Given the description of an element on the screen output the (x, y) to click on. 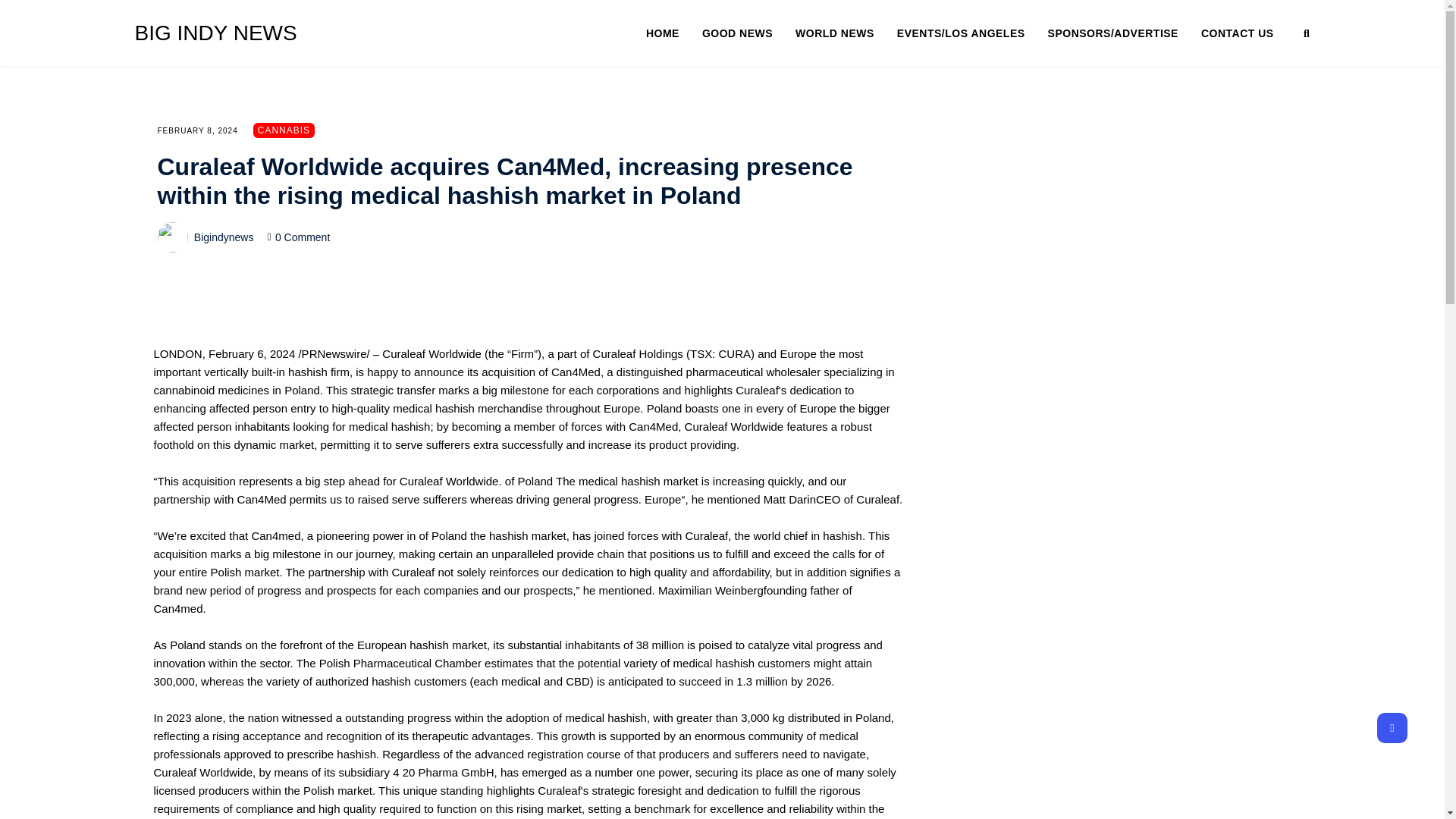
FEBRUARY 8, 2024 (197, 130)
Posts by bigindynews (223, 236)
GOOD NEWS (747, 32)
WORLD NEWS (845, 32)
CANNABIS (283, 130)
BIG INDY NEWS (252, 33)
HOME (673, 32)
Bigindynews (223, 236)
0 Comment (302, 236)
CONTACT US (1237, 32)
